Given the description of an element on the screen output the (x, y) to click on. 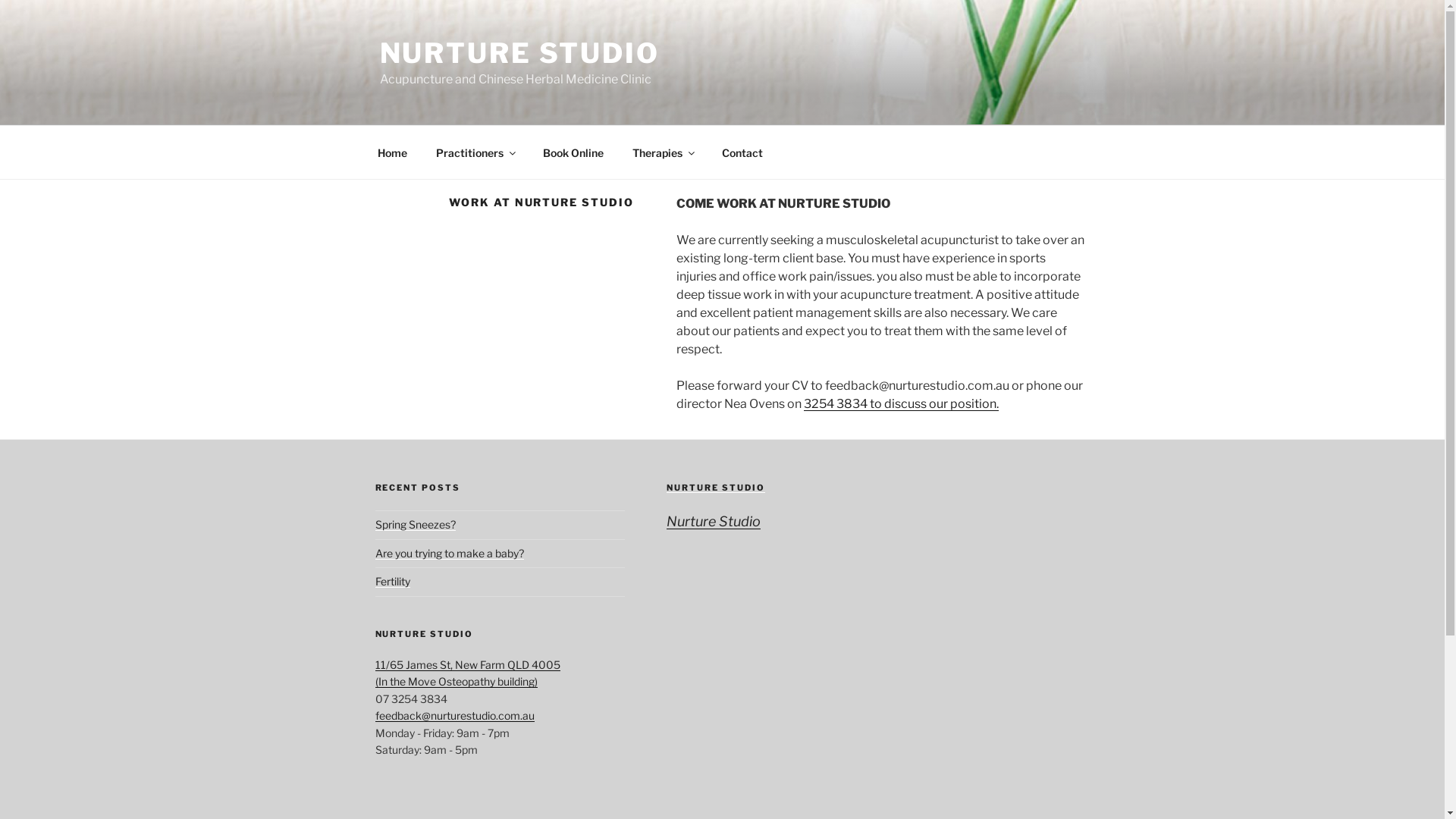
3254 3834 to discuss our position. Element type: text (900, 403)
NURTURE STUDIO Element type: text (518, 52)
Therapies Element type: text (662, 151)
Practitioners Element type: text (475, 151)
Book Online Element type: text (572, 151)
Fertility Element type: text (391, 580)
NURTURE STUDIO Element type: text (715, 487)
feedback@nurturestudio.com.au Element type: text (453, 715)
Nurture Studio Element type: text (713, 521)
Are you trying to make a baby? Element type: text (448, 552)
Home Element type: text (392, 151)
Contact Element type: text (741, 151)
Spring Sneezes? Element type: text (414, 523)
